Given the description of an element on the screen output the (x, y) to click on. 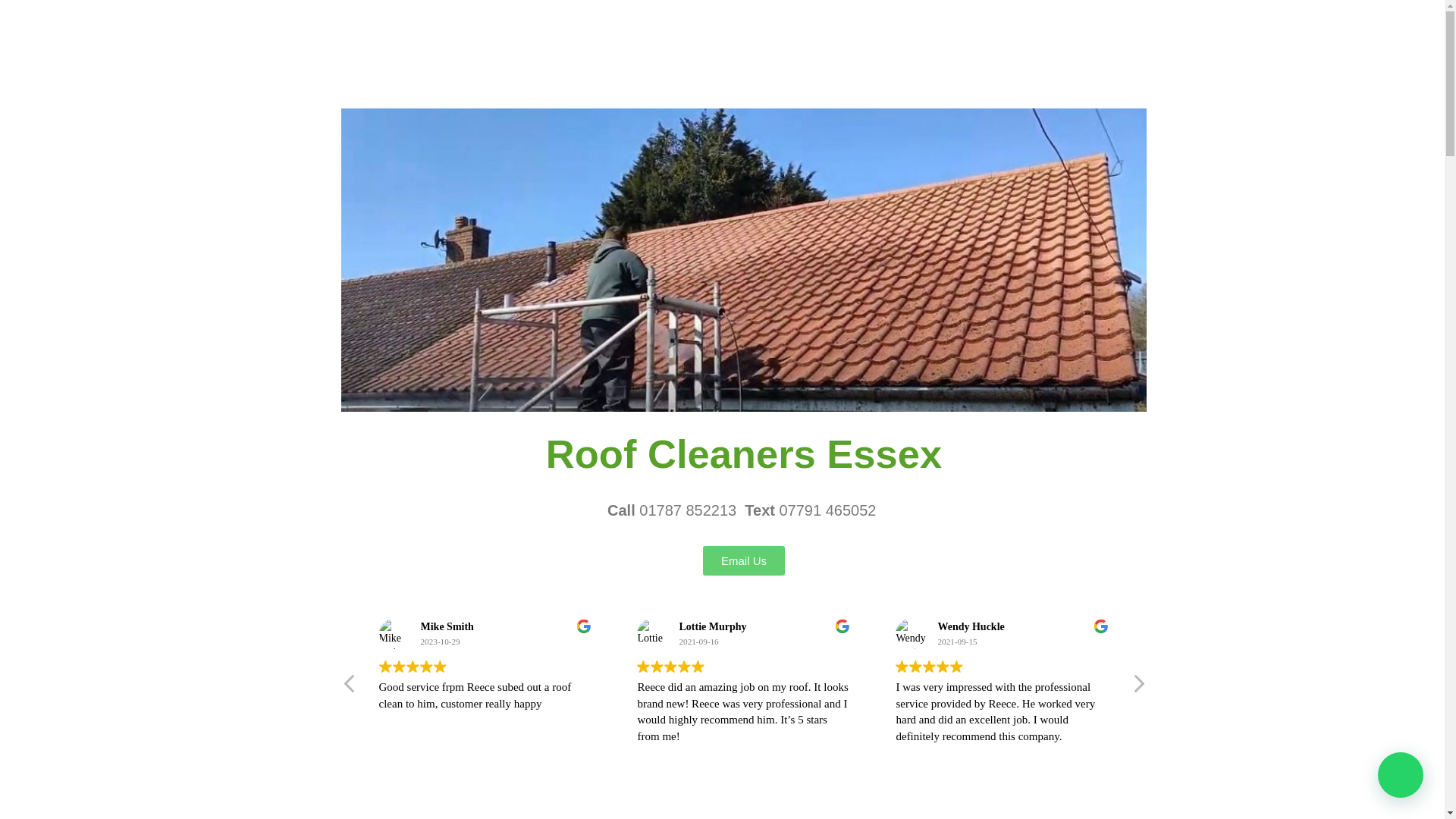
Email Us (743, 560)
